Given the description of an element on the screen output the (x, y) to click on. 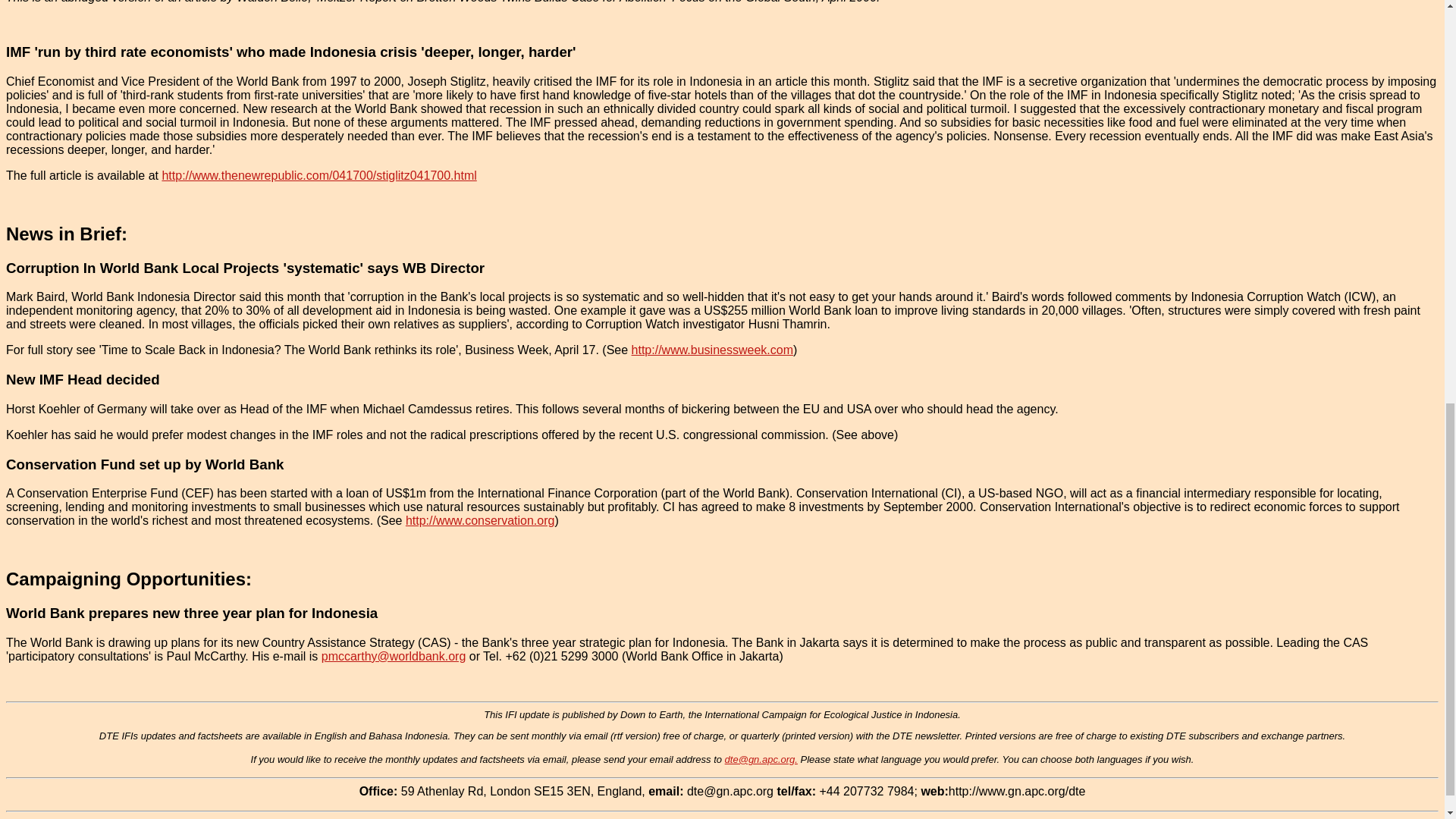
Newsletter (819, 818)
